Given the description of an element on the screen output the (x, y) to click on. 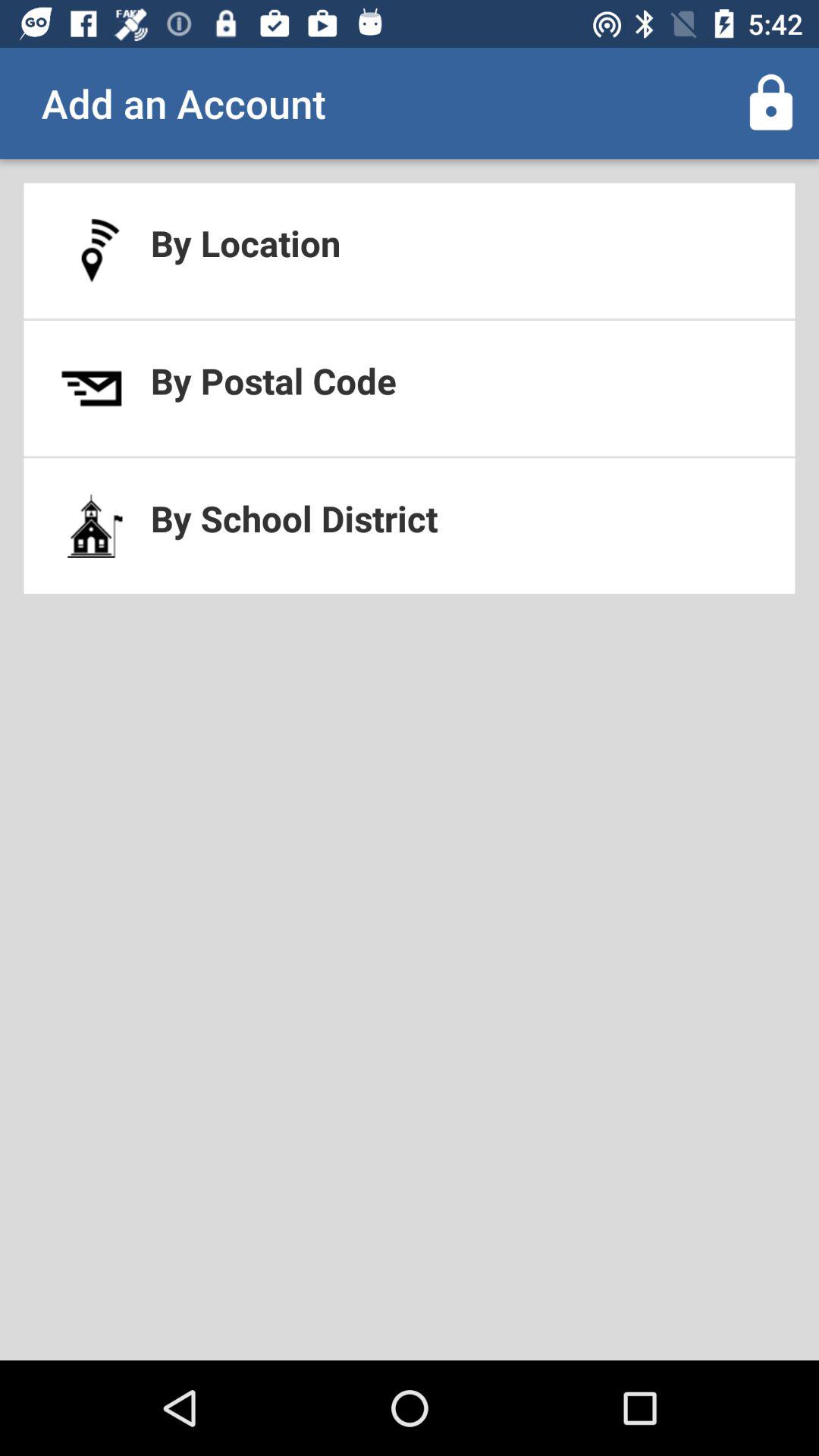
press the icon below the    by postal code icon (409, 525)
